Given the description of an element on the screen output the (x, y) to click on. 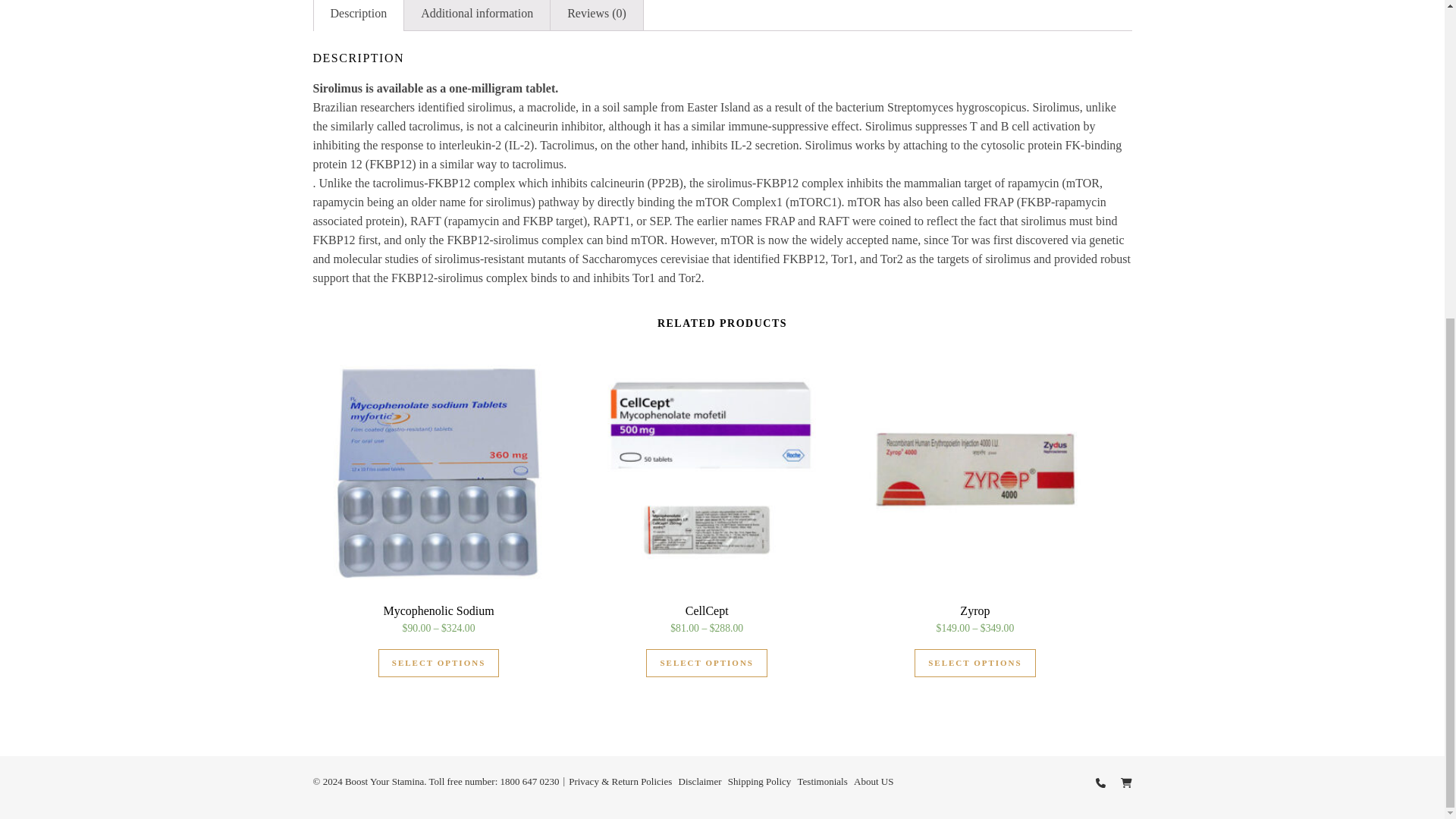
SELECT OPTIONS (438, 663)
SELECT OPTIONS (974, 663)
Shipping Policy (759, 781)
Testimonials (822, 781)
Description (359, 15)
Additional information (477, 15)
SELECT OPTIONS (706, 663)
About US (873, 781)
Disclaimer (700, 781)
